Given the description of an element on the screen output the (x, y) to click on. 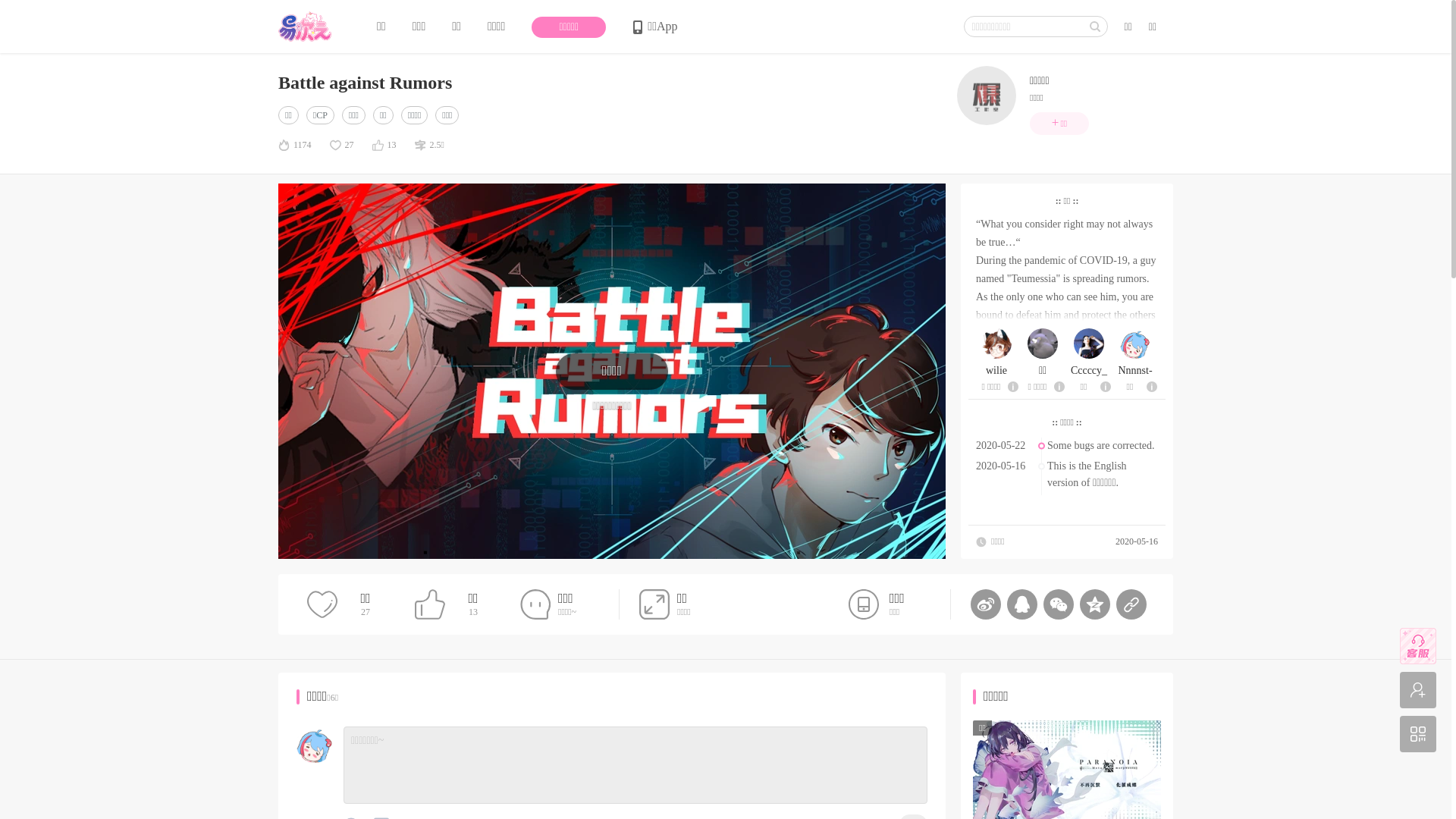
wilie Element type: text (996, 370)
Cccccy_ Element type: text (1088, 370)
27 Element type: text (341, 144)
13 Element type: text (384, 144)
1174 Element type: text (294, 144)
Nnnnst- Element type: text (1135, 370)
